Given the description of an element on the screen output the (x, y) to click on. 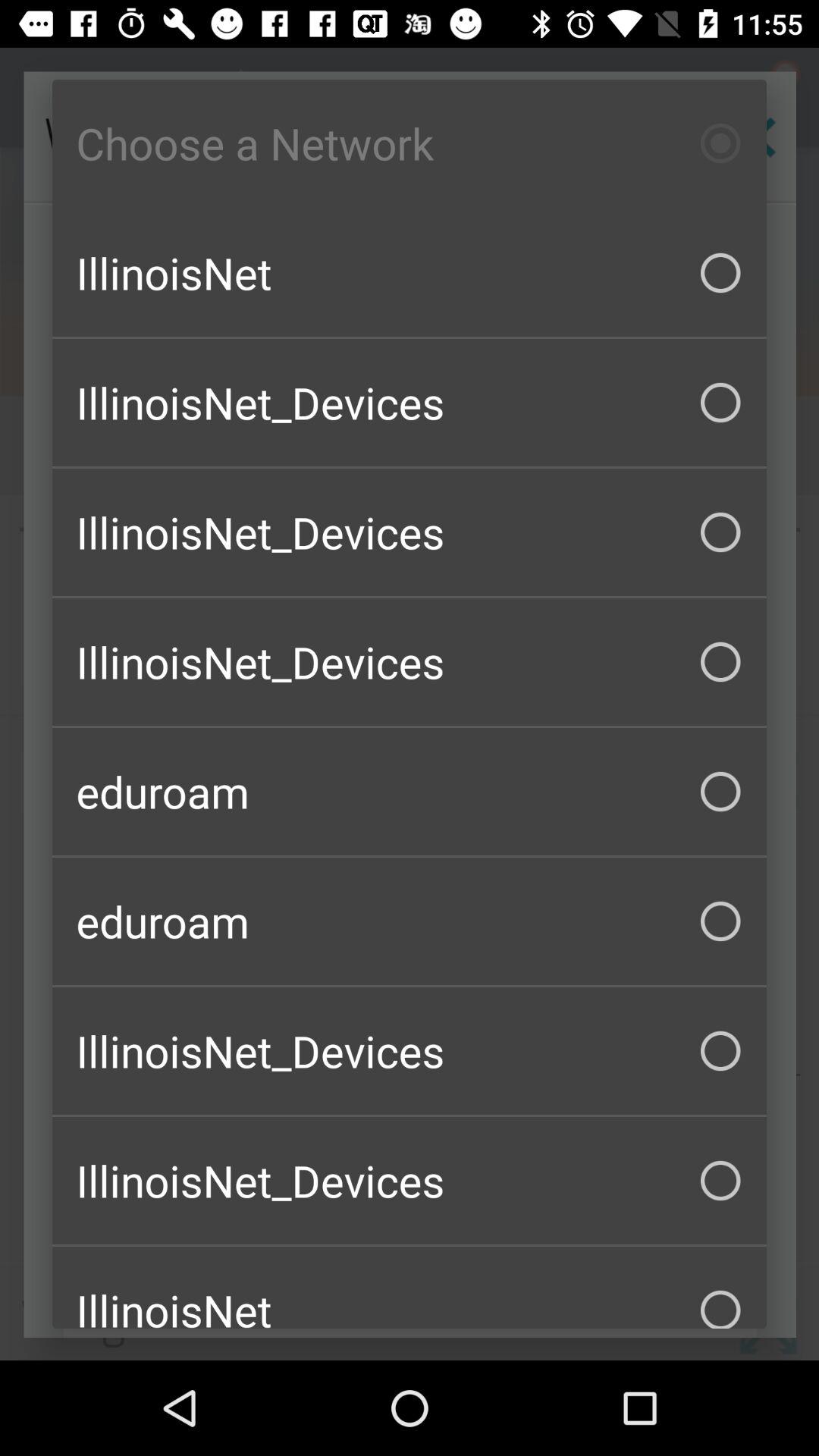
scroll until the choose a network (409, 143)
